Given the description of an element on the screen output the (x, y) to click on. 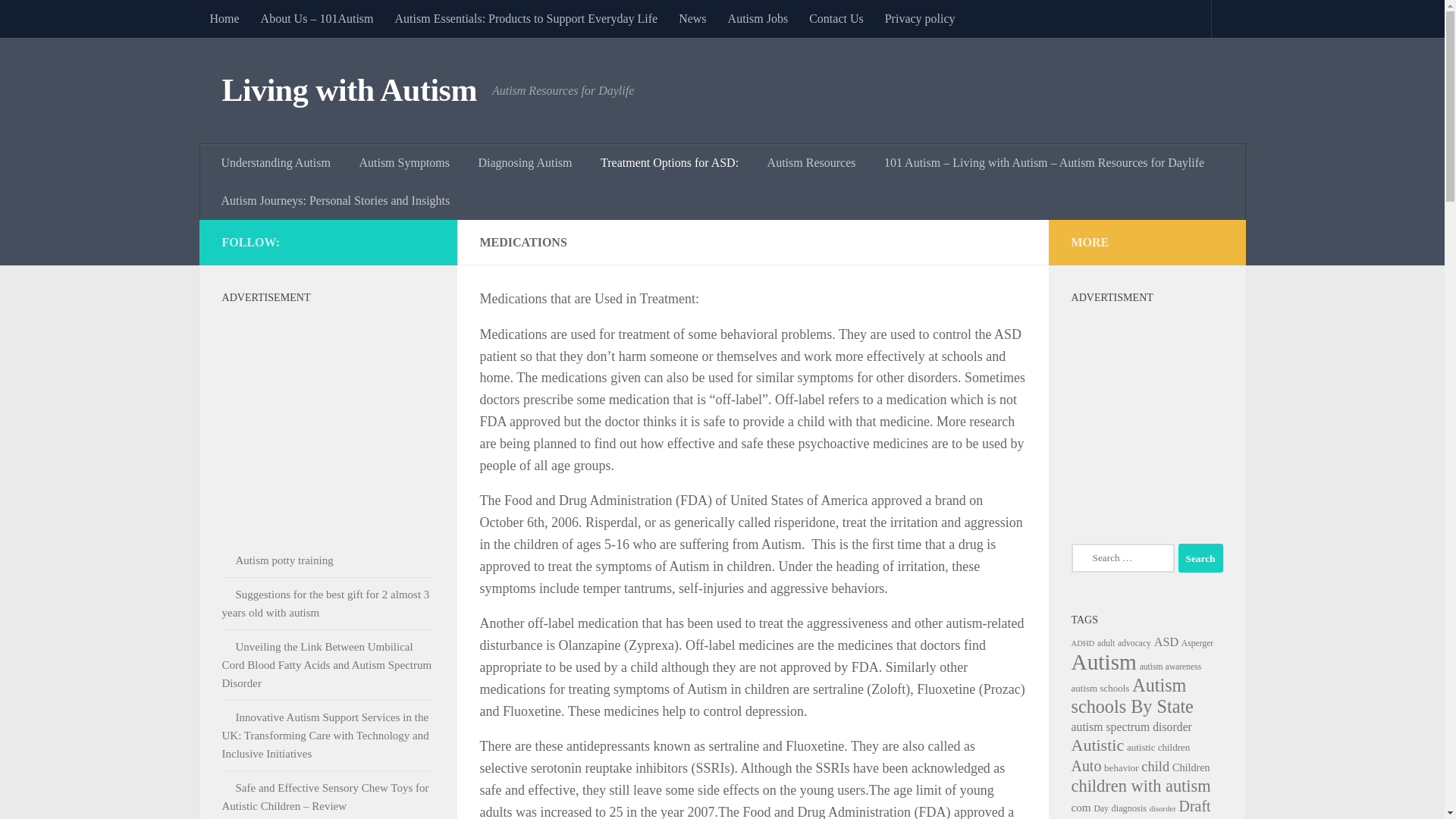
Privacy policy (920, 18)
Search (1200, 557)
Autism Journeys (336, 200)
Autism-Friendly Job Opportunities (758, 18)
Search (1200, 557)
Skip to content (59, 20)
